Given the description of an element on the screen output the (x, y) to click on. 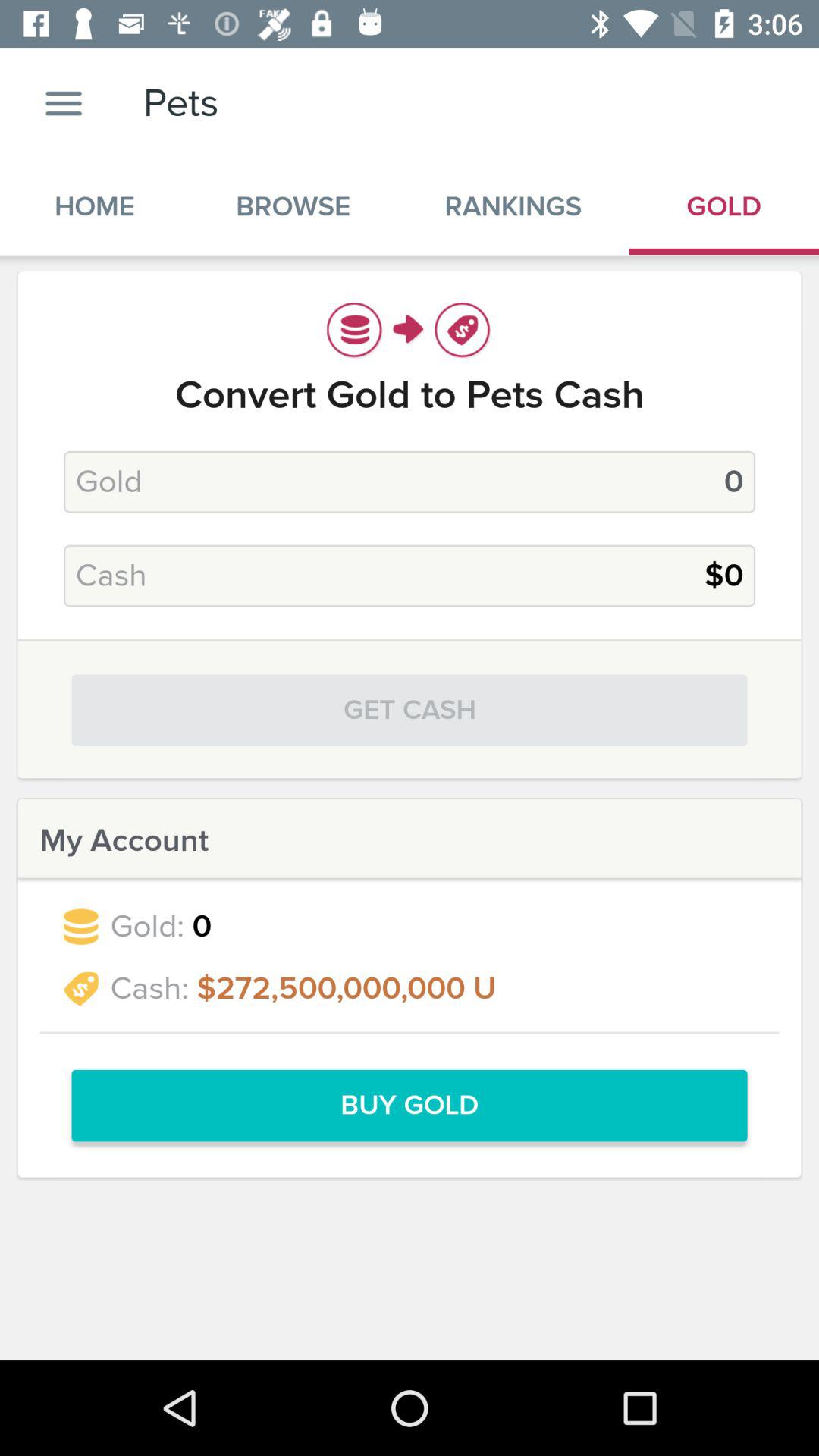
select the get cash icon (409, 710)
